Given the description of an element on the screen output the (x, y) to click on. 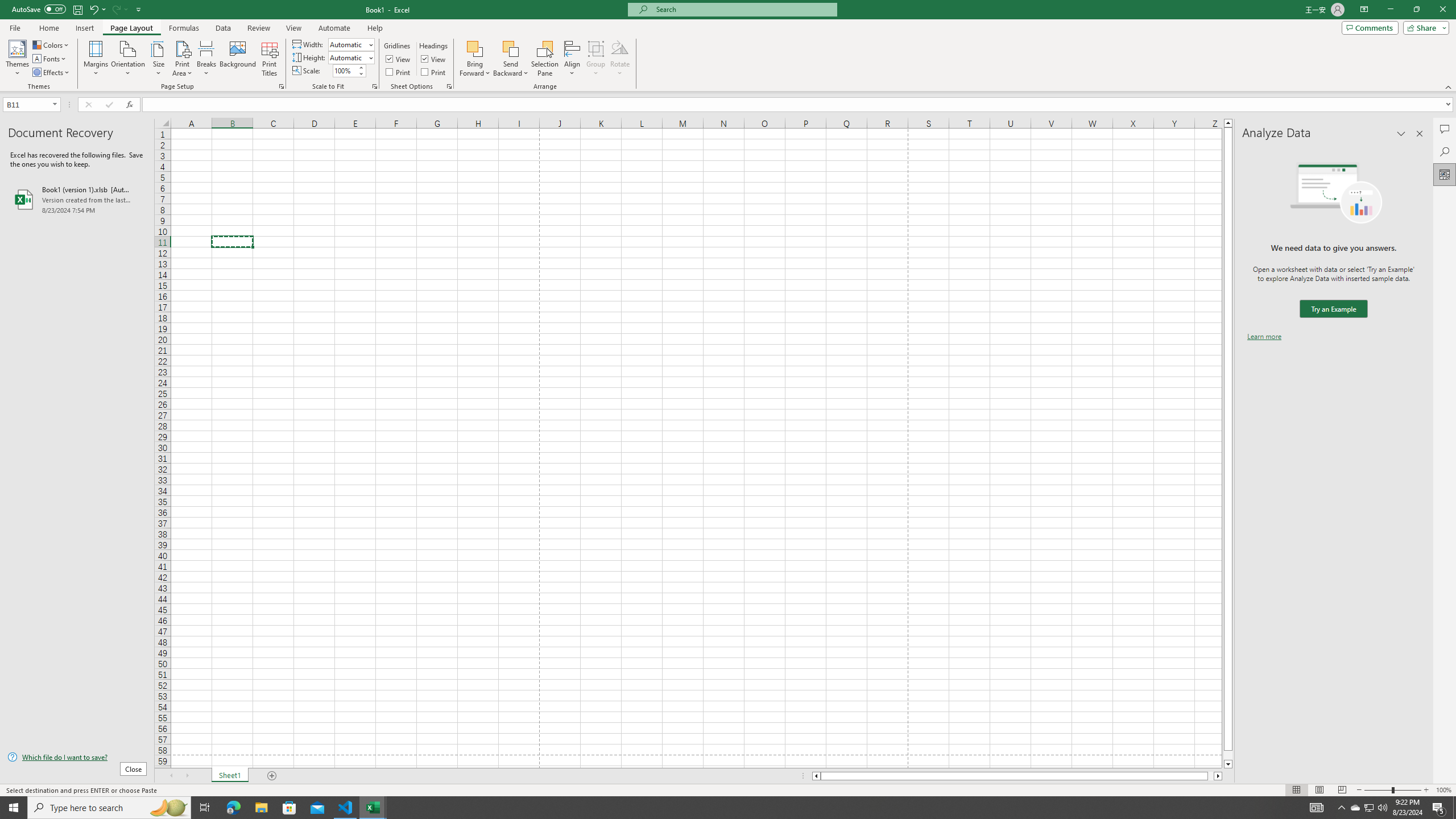
Page Setup (374, 85)
Scale (344, 70)
Task Pane Options (1400, 133)
Book1 (version 1).xlsb  [AutoRecovered] (77, 199)
Height (350, 56)
We need data to give you answers. Try an Example (1333, 308)
Width (347, 44)
Search (1444, 151)
Class: MsoCommandBar (728, 45)
